Given the description of an element on the screen output the (x, y) to click on. 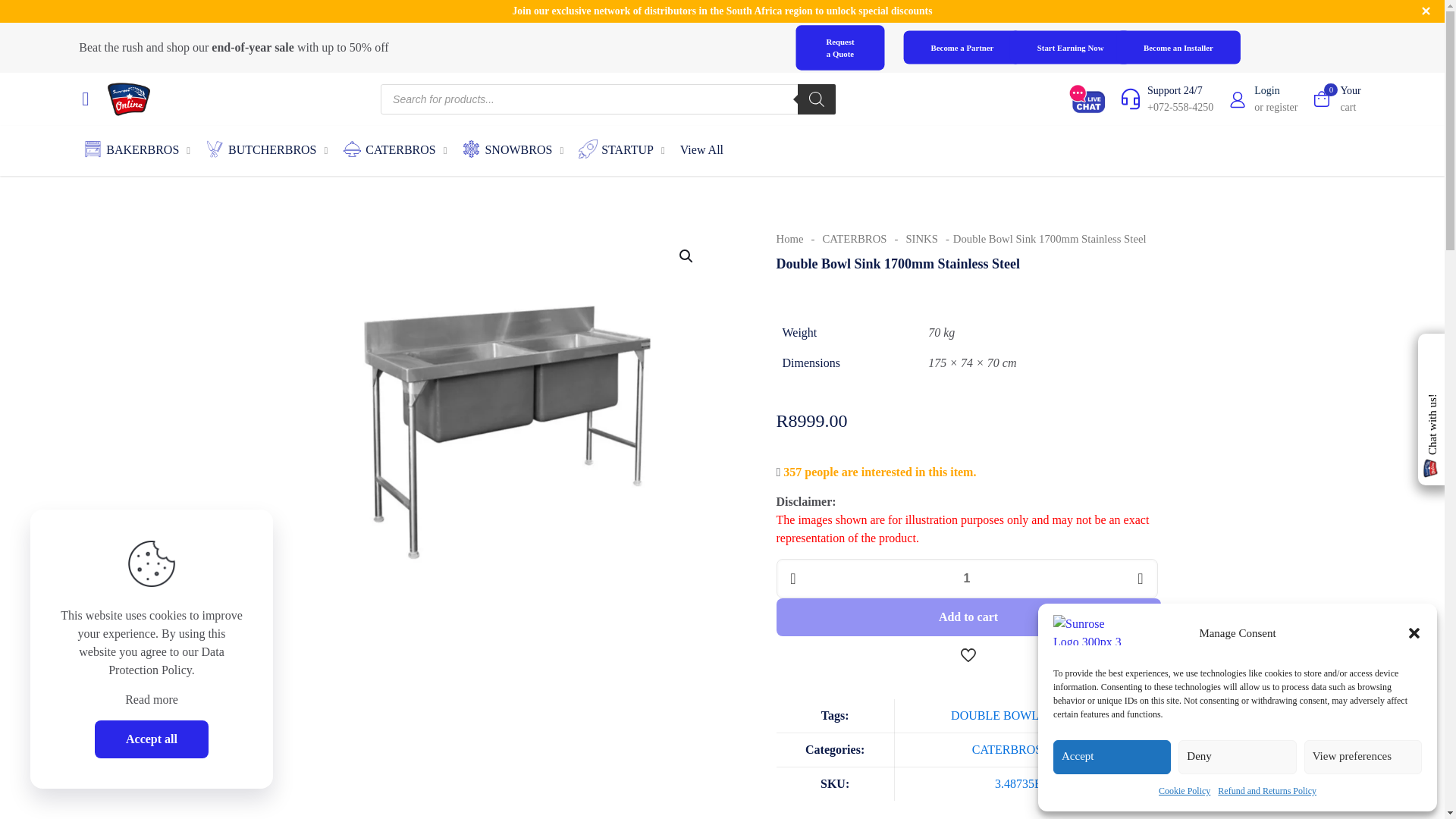
Cookie Policy (1183, 791)
Become a Partner (968, 49)
View preferences (1363, 756)
Request a Quote (845, 50)
Deny (1236, 756)
Start Earning Now (1077, 49)
Refund and Returns Policy (1266, 791)
Become an Installer (1184, 49)
Accept (1111, 756)
1 (966, 578)
